Given the description of an element on the screen output the (x, y) to click on. 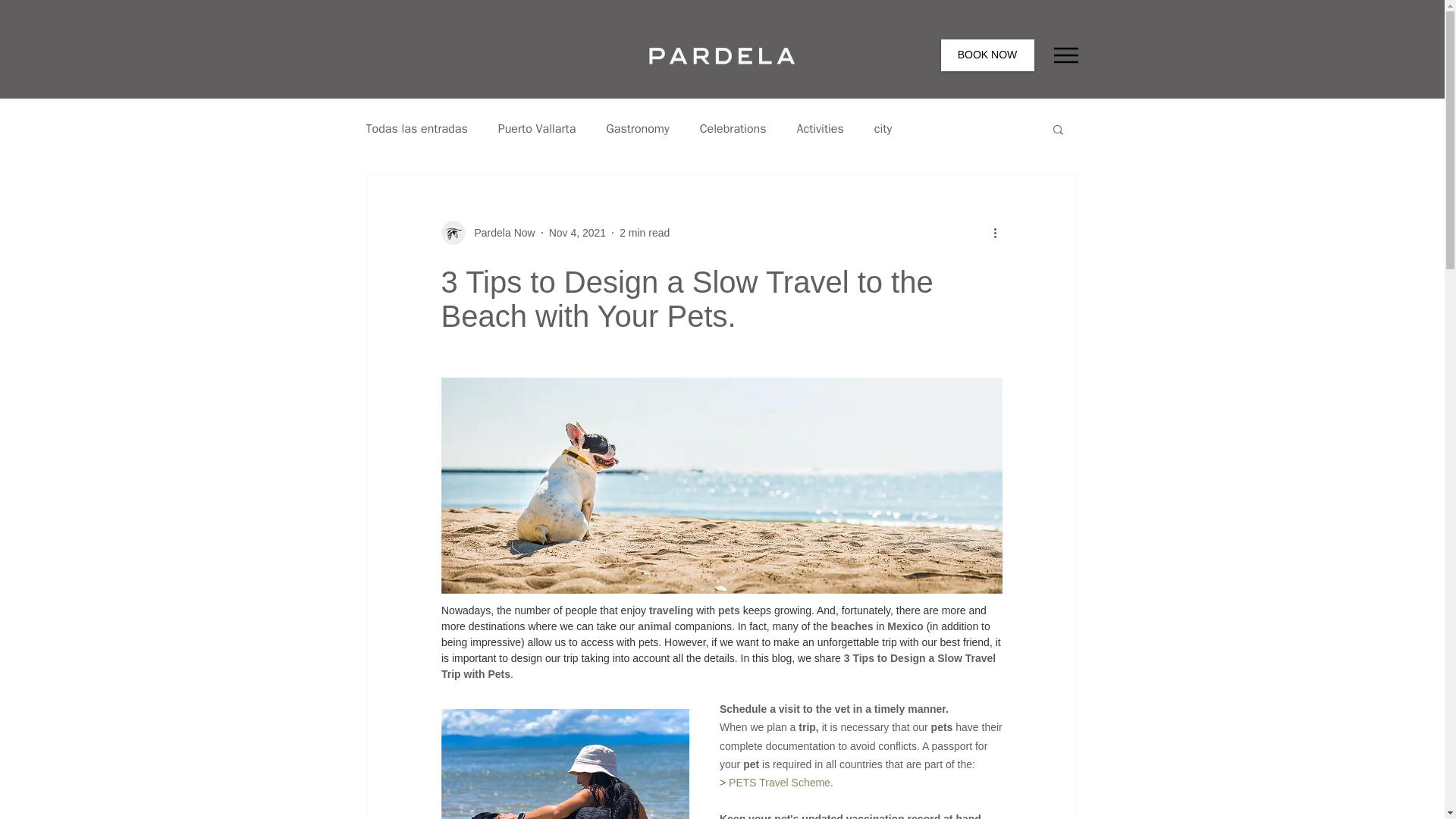
BOOK NOW (986, 55)
Gastronomy (636, 129)
Celebrations (733, 129)
2 min read (644, 232)
city (883, 129)
Pardela Now (500, 232)
Nov 4, 2021 (577, 232)
PETS Travel Scheme (779, 782)
Puerto Vallarta (536, 129)
Activities (819, 129)
